Given the description of an element on the screen output the (x, y) to click on. 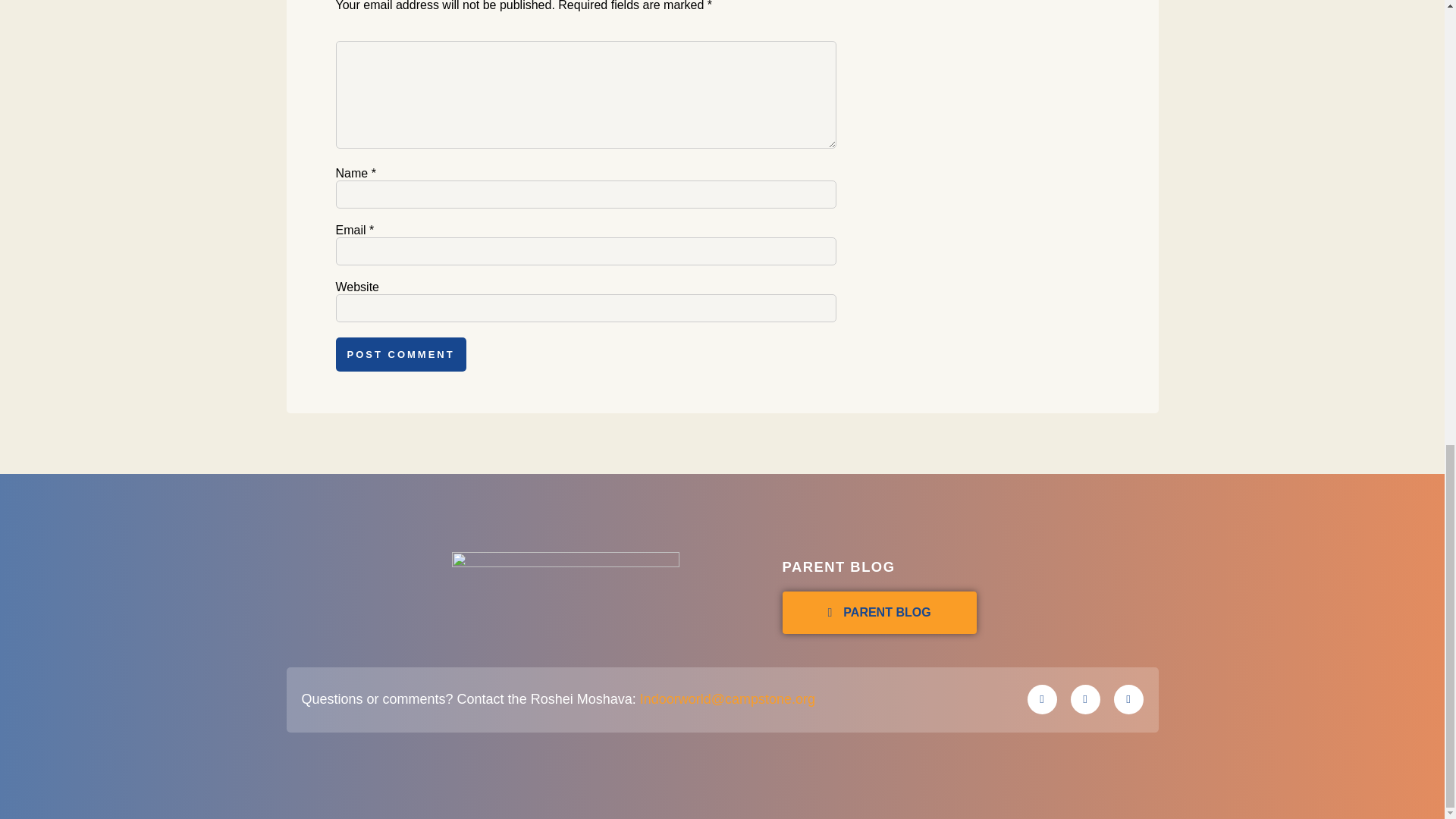
Post Comment (399, 354)
